Given the description of an element on the screen output the (x, y) to click on. 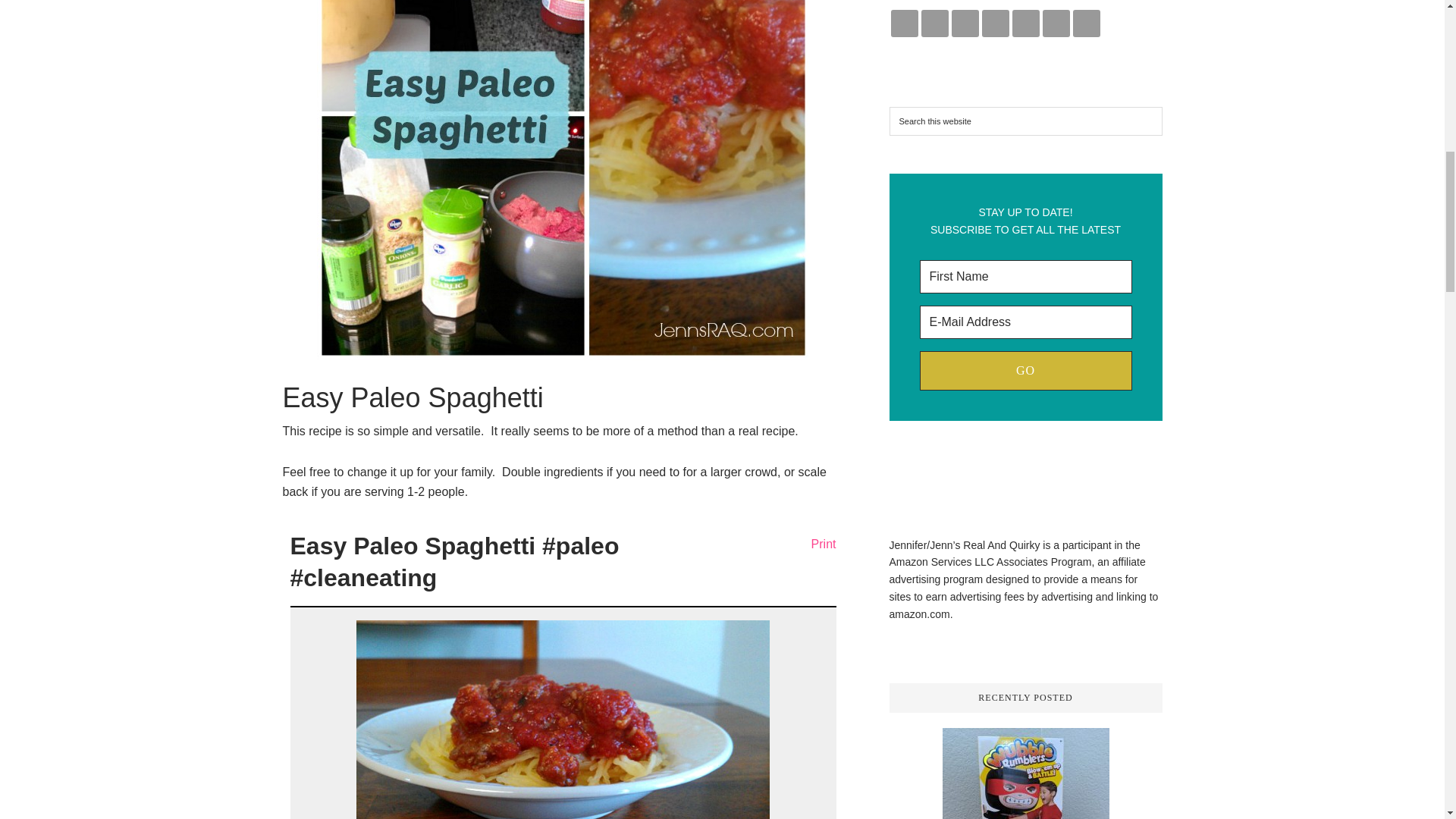
Print this recipe (815, 541)
Go (1024, 370)
Print (815, 541)
